Given the description of an element on the screen output the (x, y) to click on. 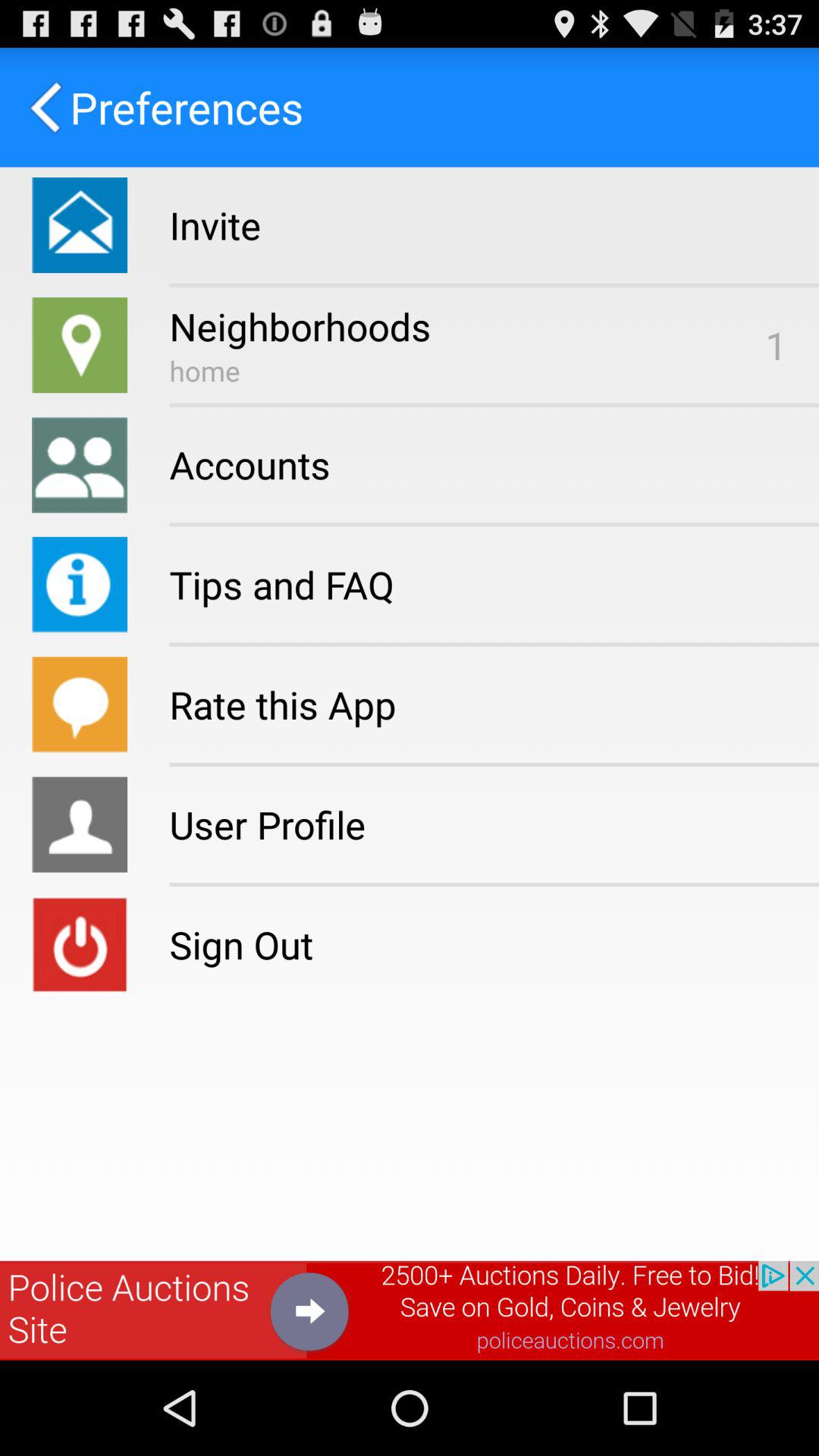
advertisement (409, 1310)
